Given the description of an element on the screen output the (x, y) to click on. 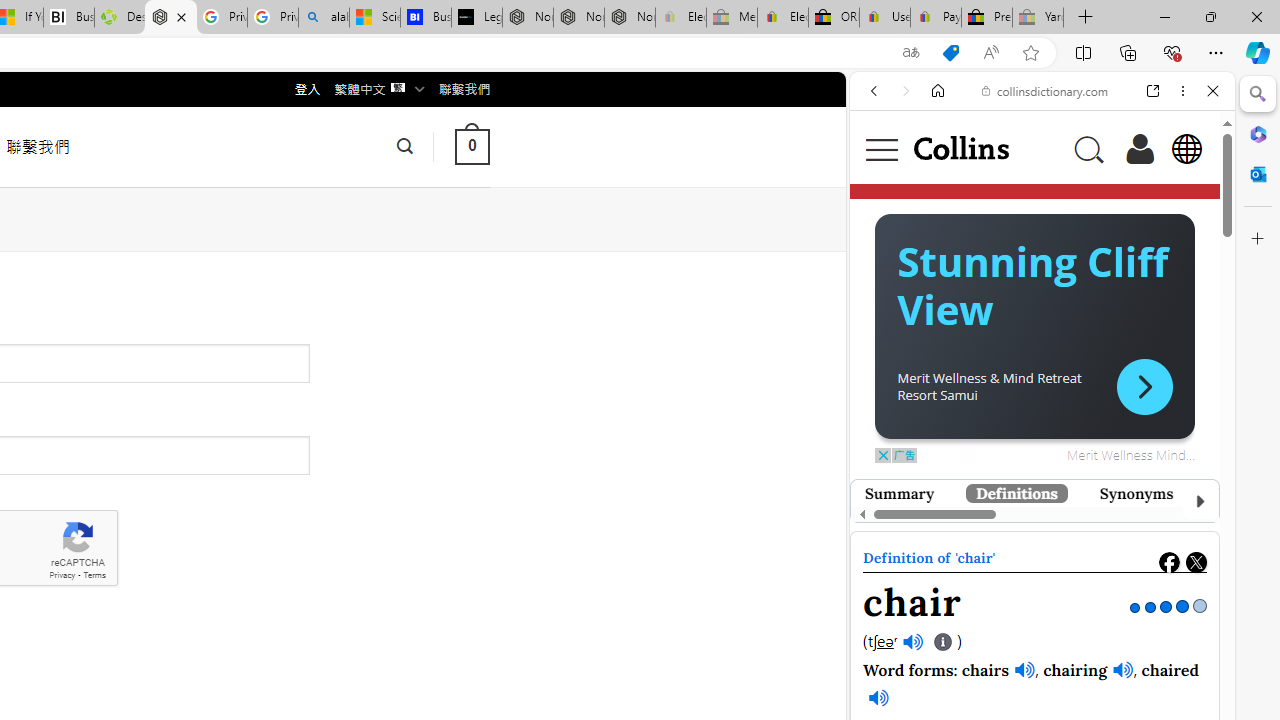
Go to the homepage (960, 147)
Enter a word (987, 323)
Press Room - eBay Inc. (987, 17)
Terms (94, 575)
Stunning Cliff View (1018, 575)
IPA Pronunciation Guide (943, 642)
